Given the description of an element on the screen output the (x, y) to click on. 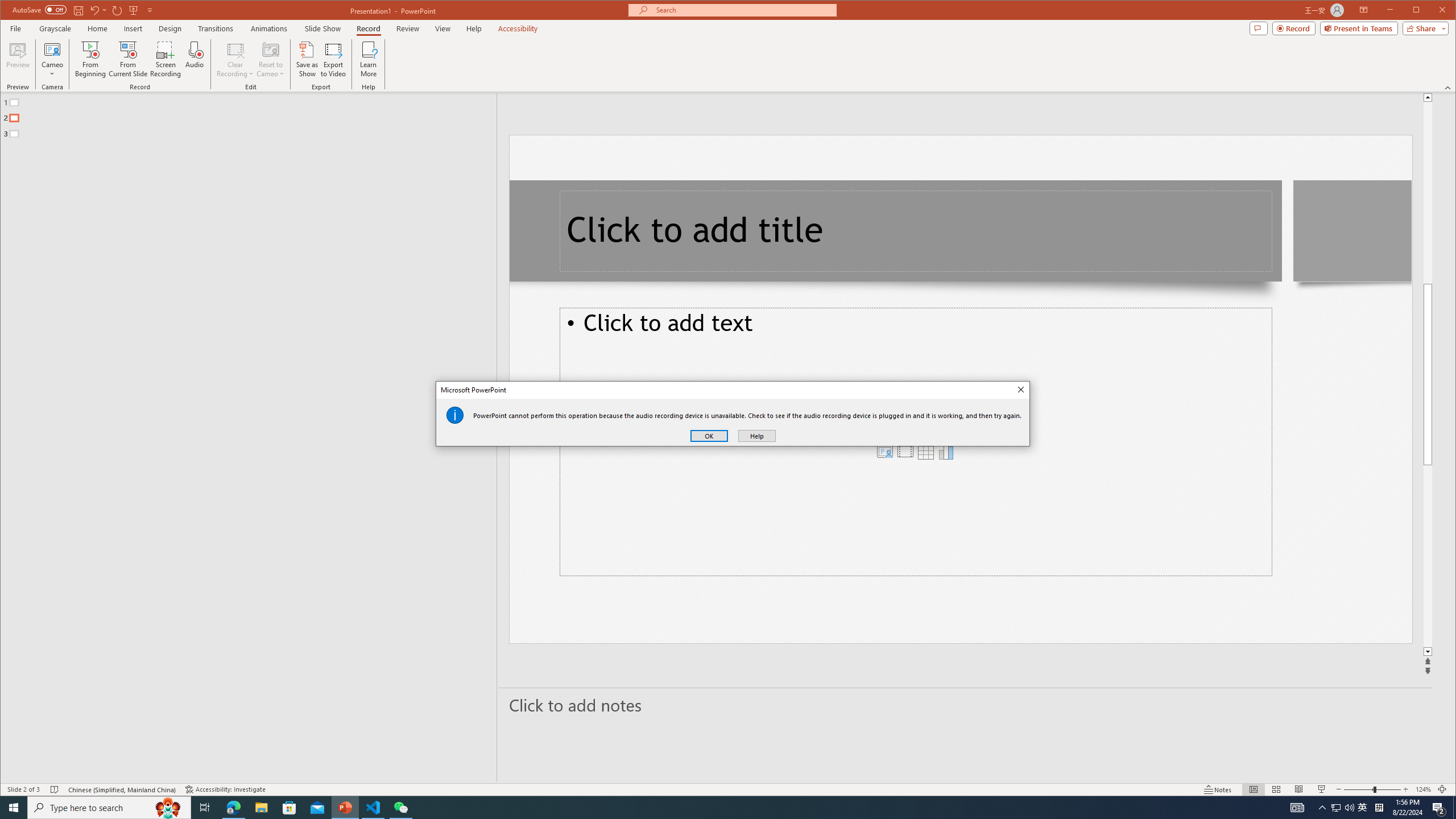
Outline (252, 115)
Clear Recording (234, 59)
Zoom 124% (1422, 789)
Grayscale (55, 28)
